Given the description of an element on the screen output the (x, y) to click on. 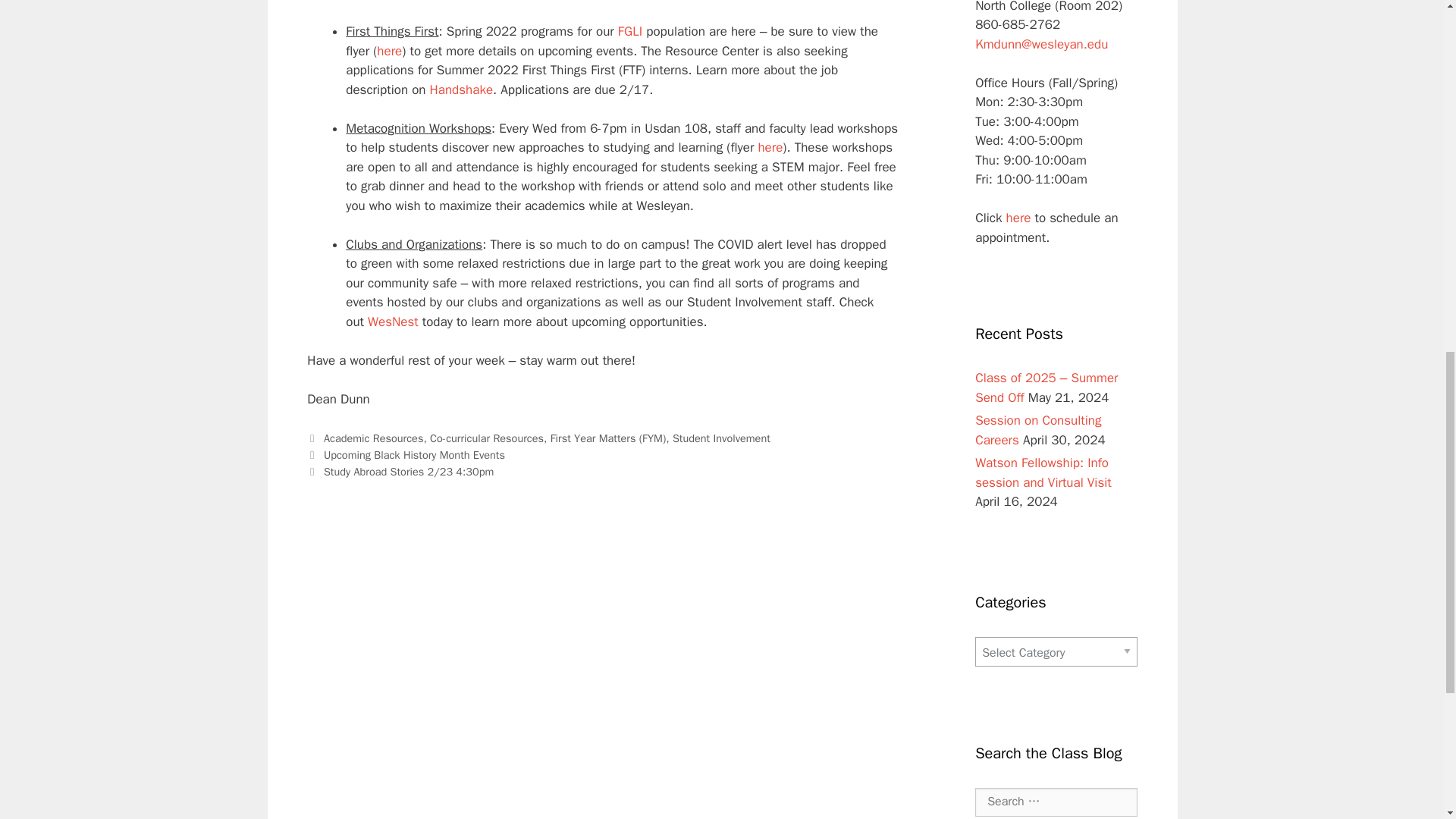
Search for: (1056, 801)
Student Involvement (721, 438)
here (389, 50)
WesNest (393, 321)
Handshake (461, 89)
here (770, 147)
Upcoming Black History Month Events (414, 454)
Co-curricular Resources (486, 438)
Academic Resources (373, 438)
FGLI (629, 31)
